Given the description of an element on the screen output the (x, y) to click on. 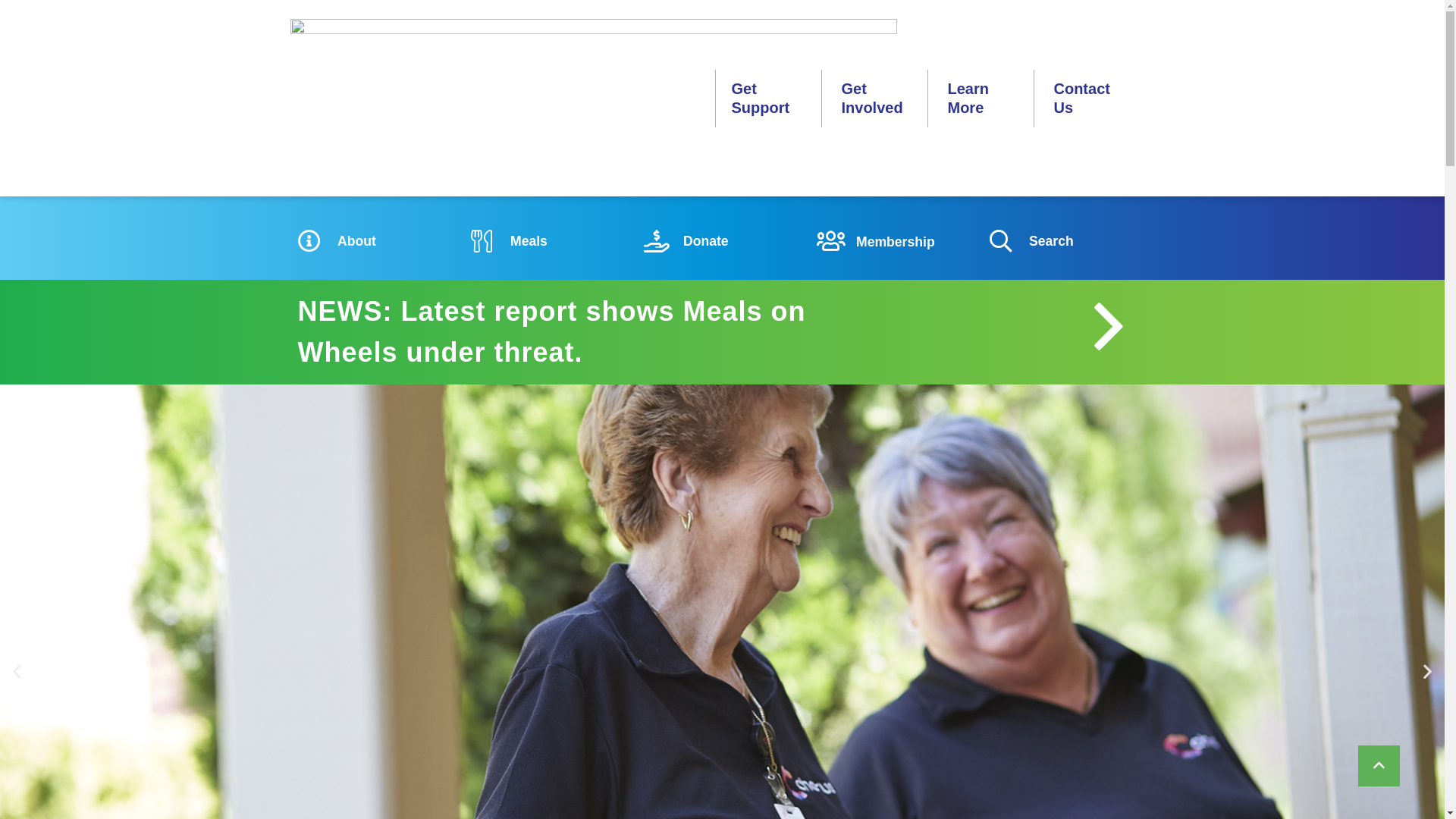
Get Involved Element type: text (875, 98)
About Element type: text (376, 241)
Search Element type: text (1067, 241)
Get Support Element type: text (763, 98)
Membership Element type: text (894, 241)
Contact Us Element type: text (1081, 98)
Learn More Element type: text (970, 98)
Donate Element type: text (721, 241)
Meals Element type: text (548, 241)
NEWS: Latest report shows Meals on Wheels under threat. Element type: text (551, 331)
